Given the description of an element on the screen output the (x, y) to click on. 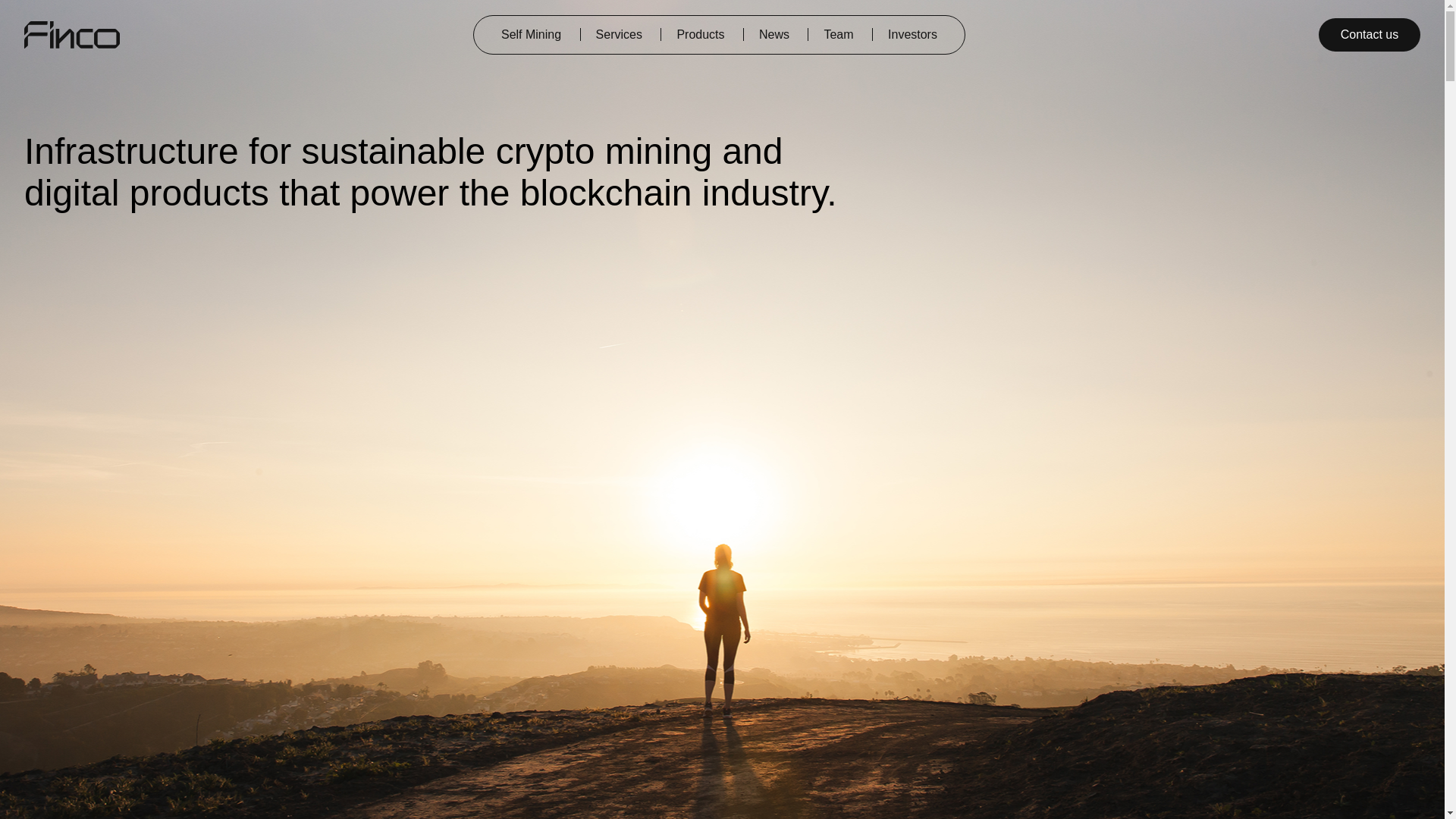
Contact us Element type: text (1369, 34)
